Given the description of an element on the screen output the (x, y) to click on. 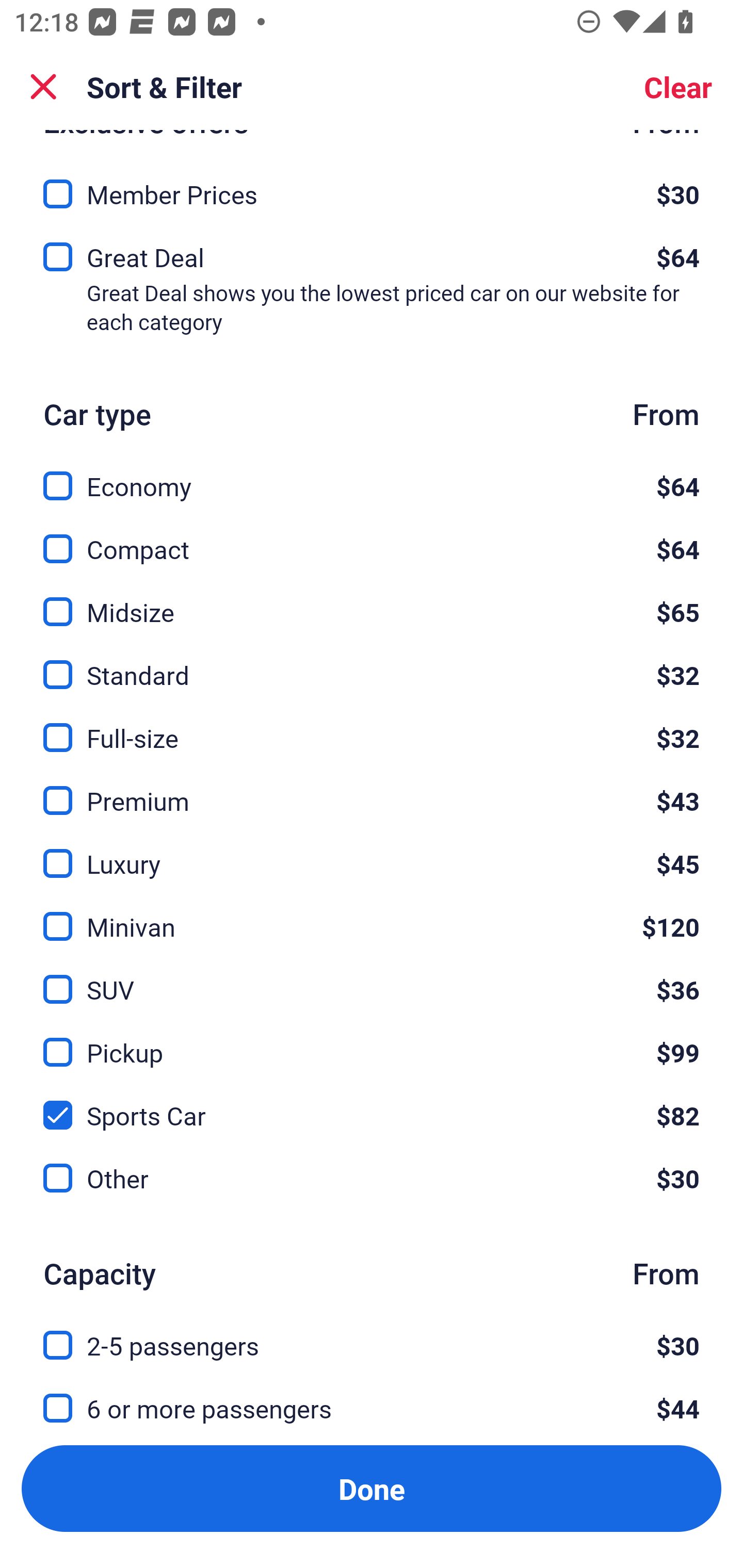
Close Sort and Filter (43, 86)
Clear (677, 86)
Member Prices, $30 Member Prices $30 (371, 187)
Economy, $64 Economy $64 (371, 474)
Compact, $64 Compact $64 (371, 537)
Midsize, $65 Midsize $65 (371, 600)
Standard, $32 Standard $32 (371, 662)
Full-size, $32 Full-size $32 (371, 725)
Premium, $43 Premium $43 (371, 788)
Luxury, $45 Luxury $45 (371, 851)
Minivan, $120 Minivan $120 (371, 914)
SUV, $36 SUV $36 (371, 978)
Pickup, $99 Pickup $99 (371, 1040)
Sports Car, $82 Sports Car $82 (371, 1103)
Other, $30 Other $30 (371, 1178)
2-5 passengers, $30 2-5 passengers $30 (371, 1334)
6 or more passengers, $44 6 or more passengers $44 (371, 1405)
Apply and close Sort and Filter Done (371, 1488)
